Given the description of an element on the screen output the (x, y) to click on. 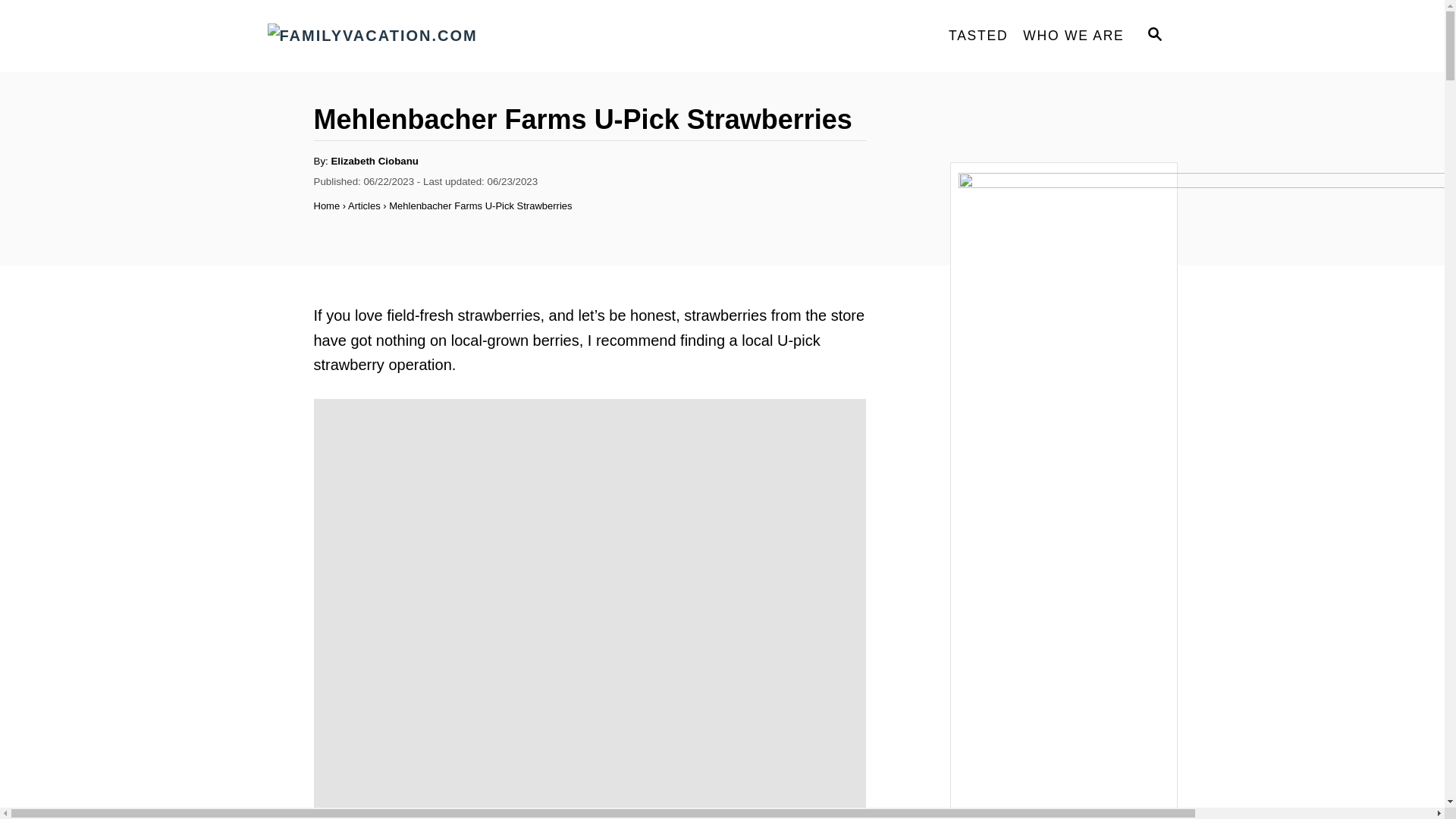
Home (327, 205)
SEARCH (1153, 35)
FamilyVacation.com (403, 36)
Elizabeth Ciobanu (374, 161)
Articles (363, 205)
TASTED (977, 36)
WHO WE ARE (1072, 36)
